Given the description of an element on the screen output the (x, y) to click on. 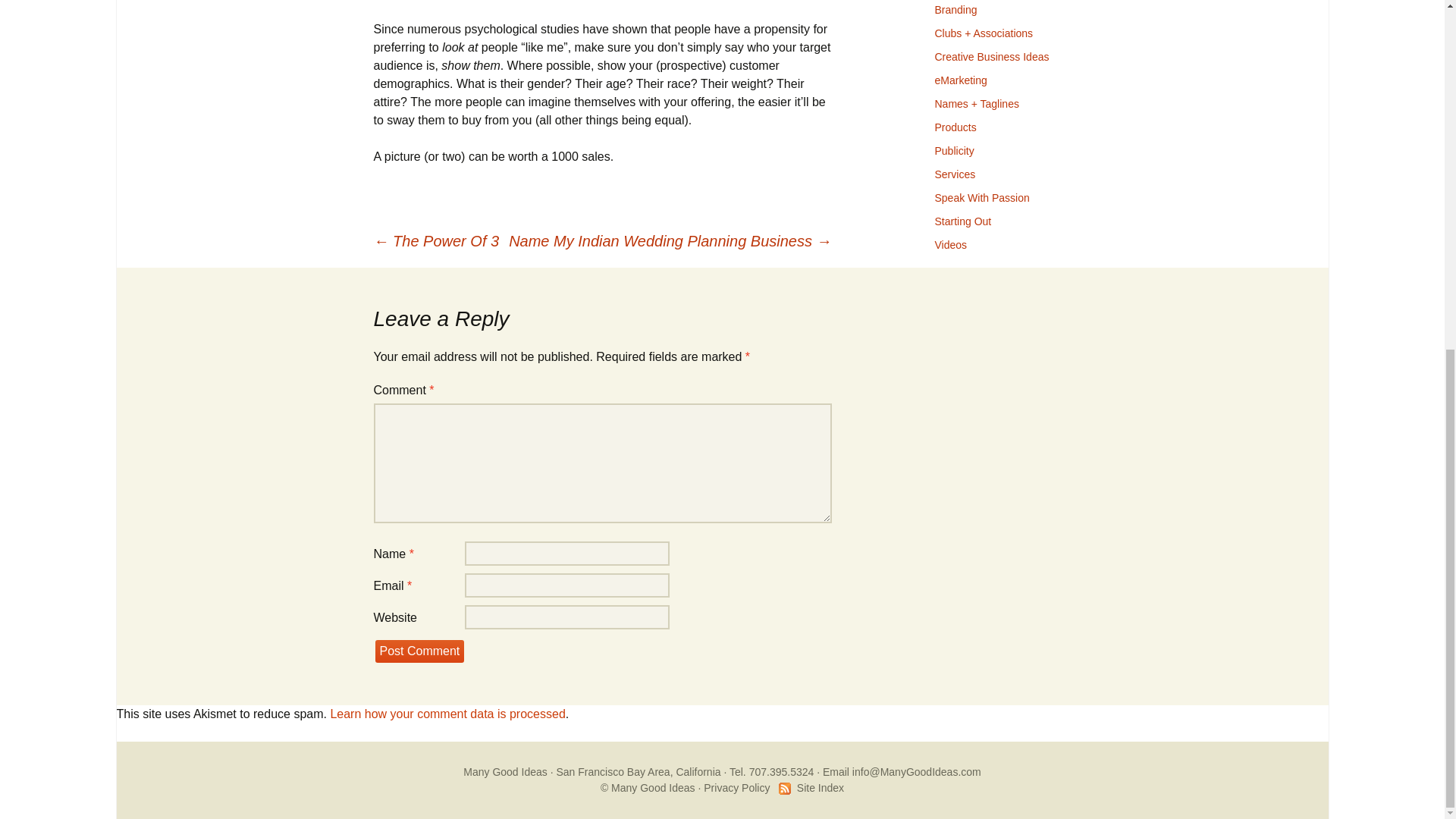
Learn how your comment data is processed (447, 713)
Publicity (954, 150)
Post Comment (419, 650)
Products (954, 127)
Branding (955, 9)
Many Good Ideas: Creative Marketing Strategy Consultant (505, 771)
Creative Business Ideas (991, 56)
Speak With Passion (981, 197)
Many Good Ideas (505, 771)
Post Comment (419, 650)
Videos (950, 244)
Services (954, 174)
eMarketing (960, 80)
Starting Out (962, 221)
